Given the description of an element on the screen output the (x, y) to click on. 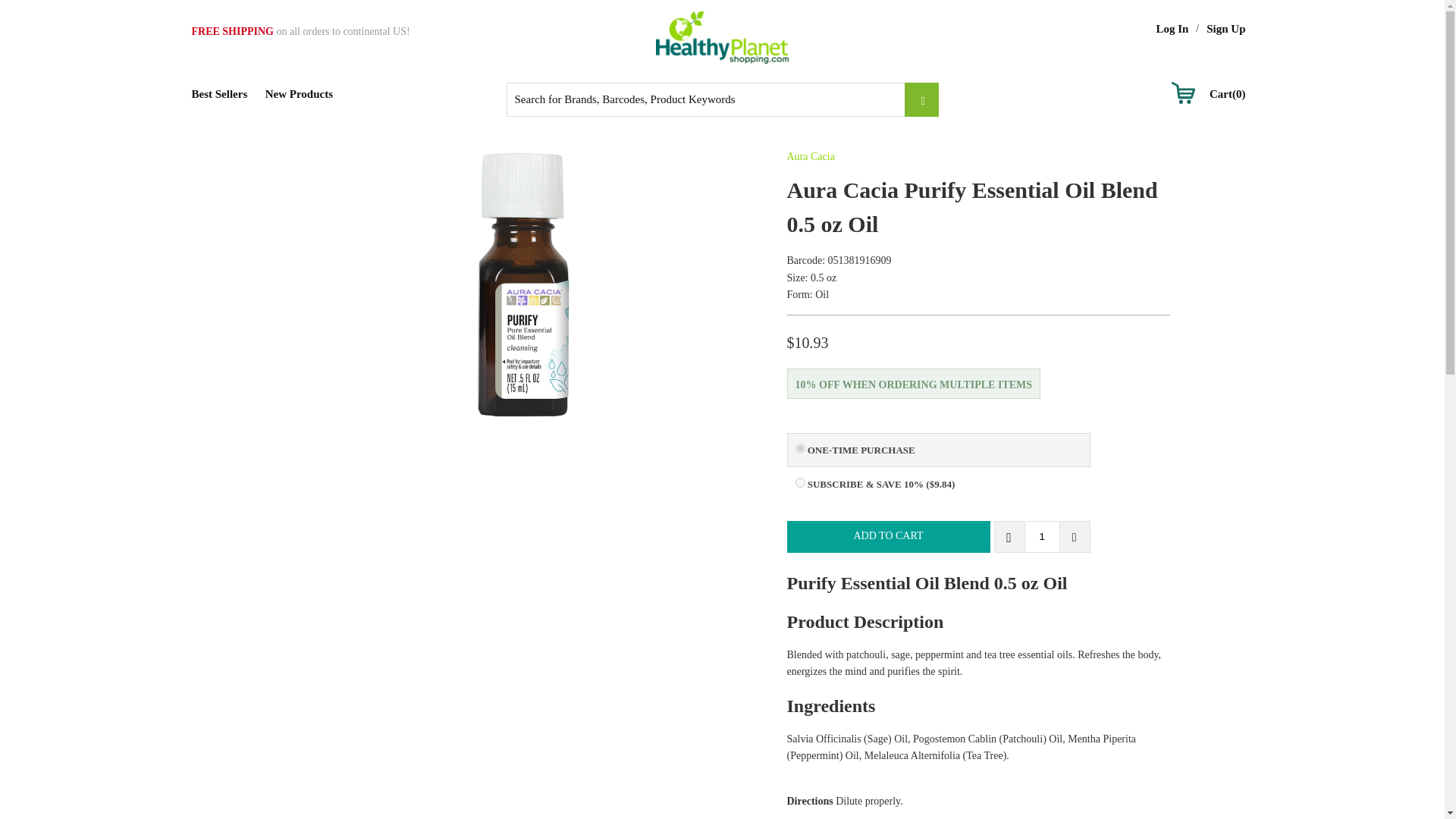
0 (799, 448)
Healthy Planet Shopping (721, 37)
Sign Up (1225, 28)
ADD TO CART (888, 536)
Best Sellers (218, 94)
New Products (298, 94)
1 (1041, 536)
Aura Cacia (810, 156)
My Account  (1171, 28)
Log In (1171, 28)
2 (799, 482)
My Account (1225, 28)
Aura Cacia (810, 156)
